Given the description of an element on the screen output the (x, y) to click on. 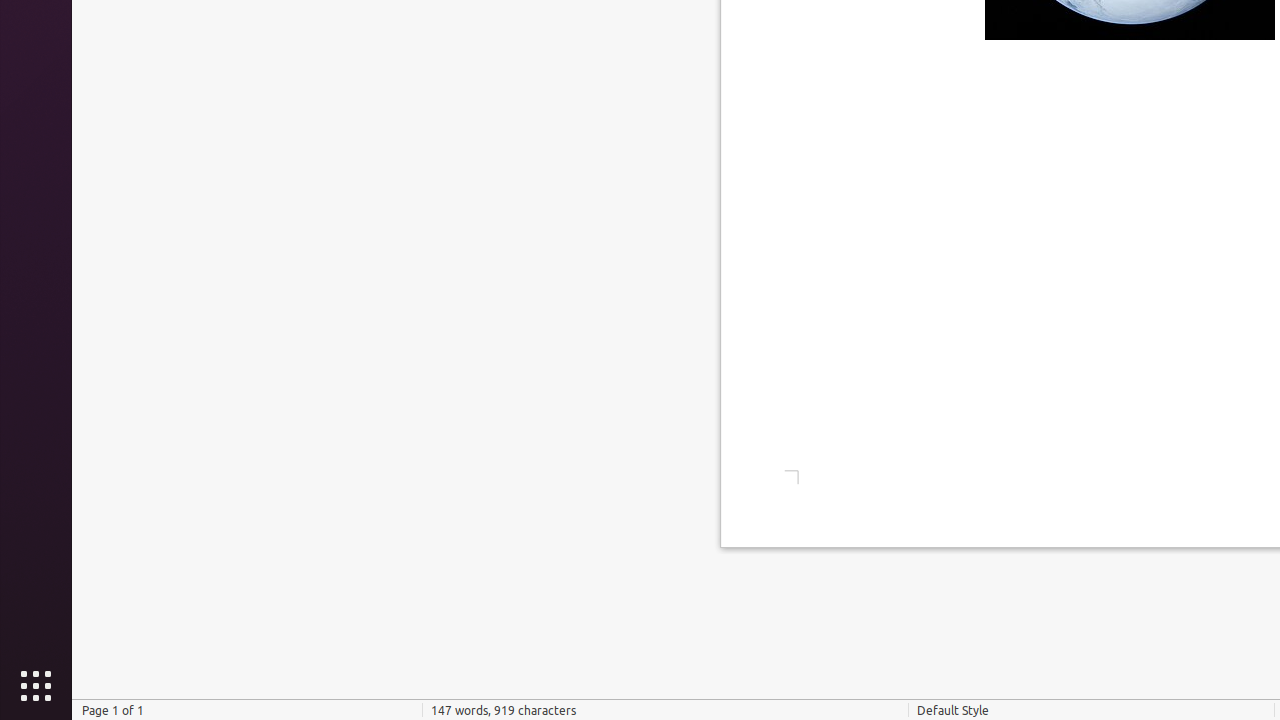
Show Applications Element type: toggle-button (36, 686)
